Given the description of an element on the screen output the (x, y) to click on. 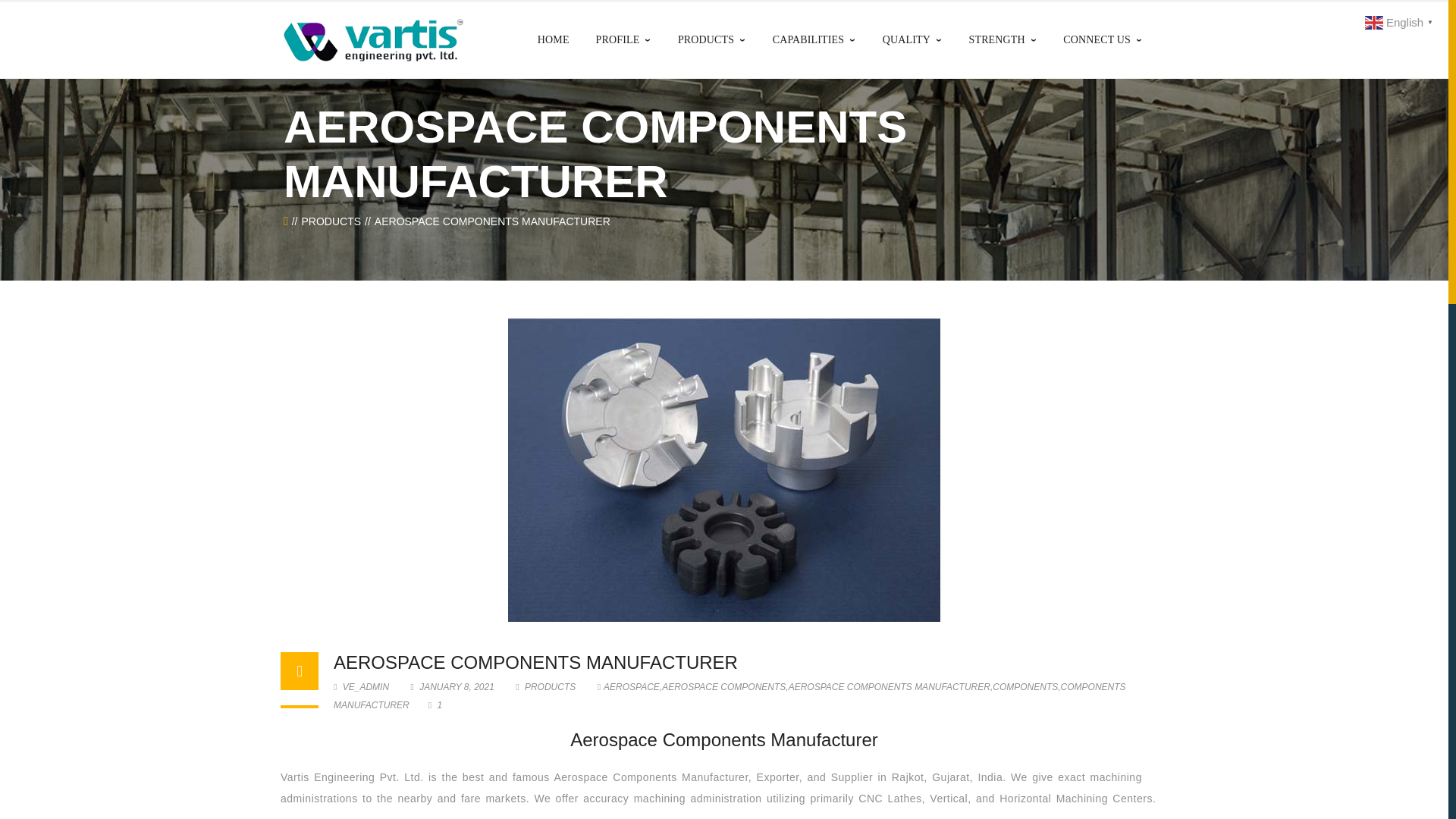
Aerospace Components Manufacturer (535, 661)
JANUARY 8, 2021 (453, 686)
CONNECT US (1101, 39)
Products (331, 221)
STRENGTH (1002, 39)
PRODUCTS (549, 686)
AEROSPACE COMPONENTS MANUFACTURER (535, 661)
AEROSPACE (631, 686)
CAPABILITIES (814, 39)
PRODUCTS (331, 221)
